Given the description of an element on the screen output the (x, y) to click on. 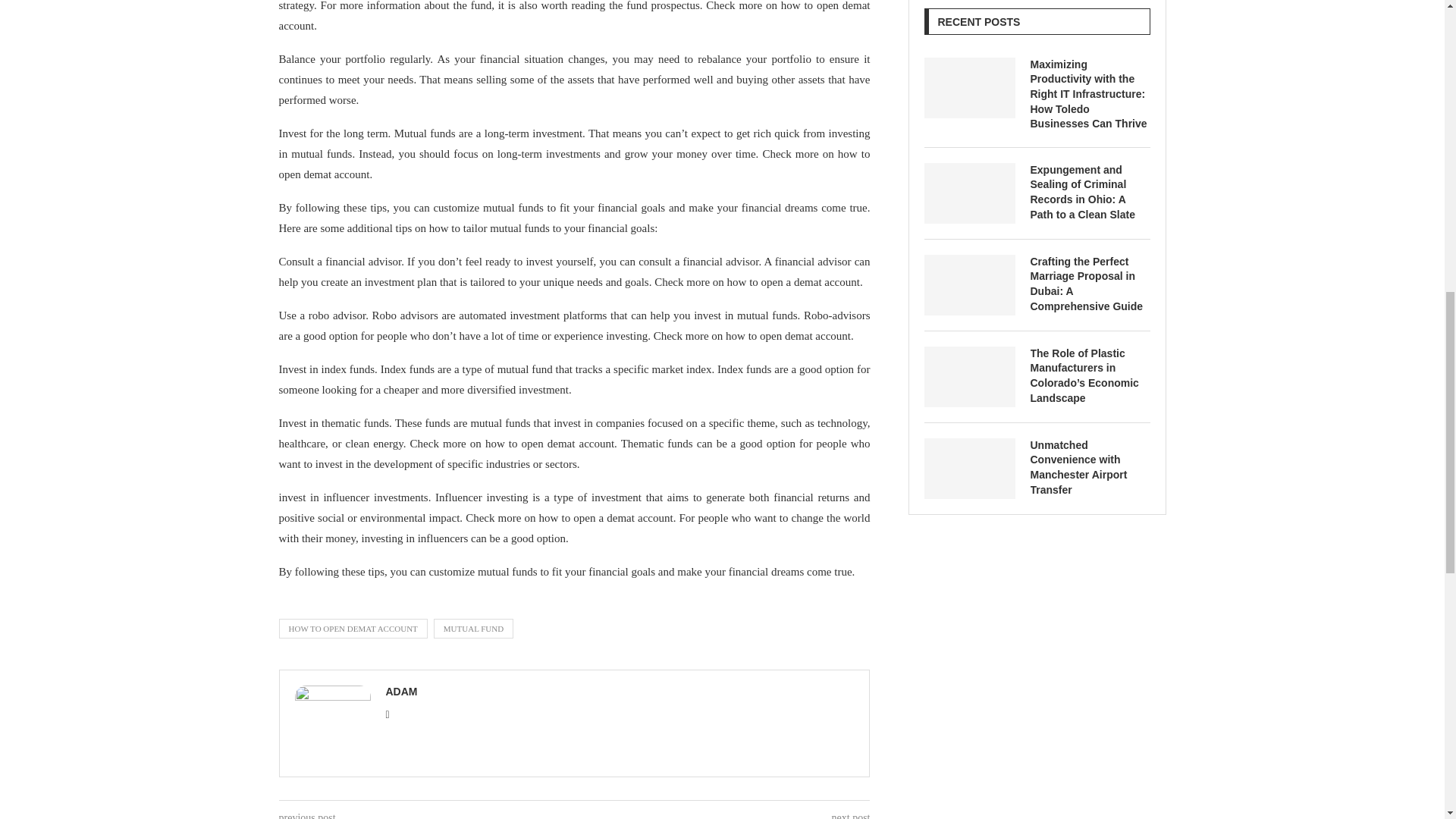
Author Adam (400, 691)
